Given the description of an element on the screen output the (x, y) to click on. 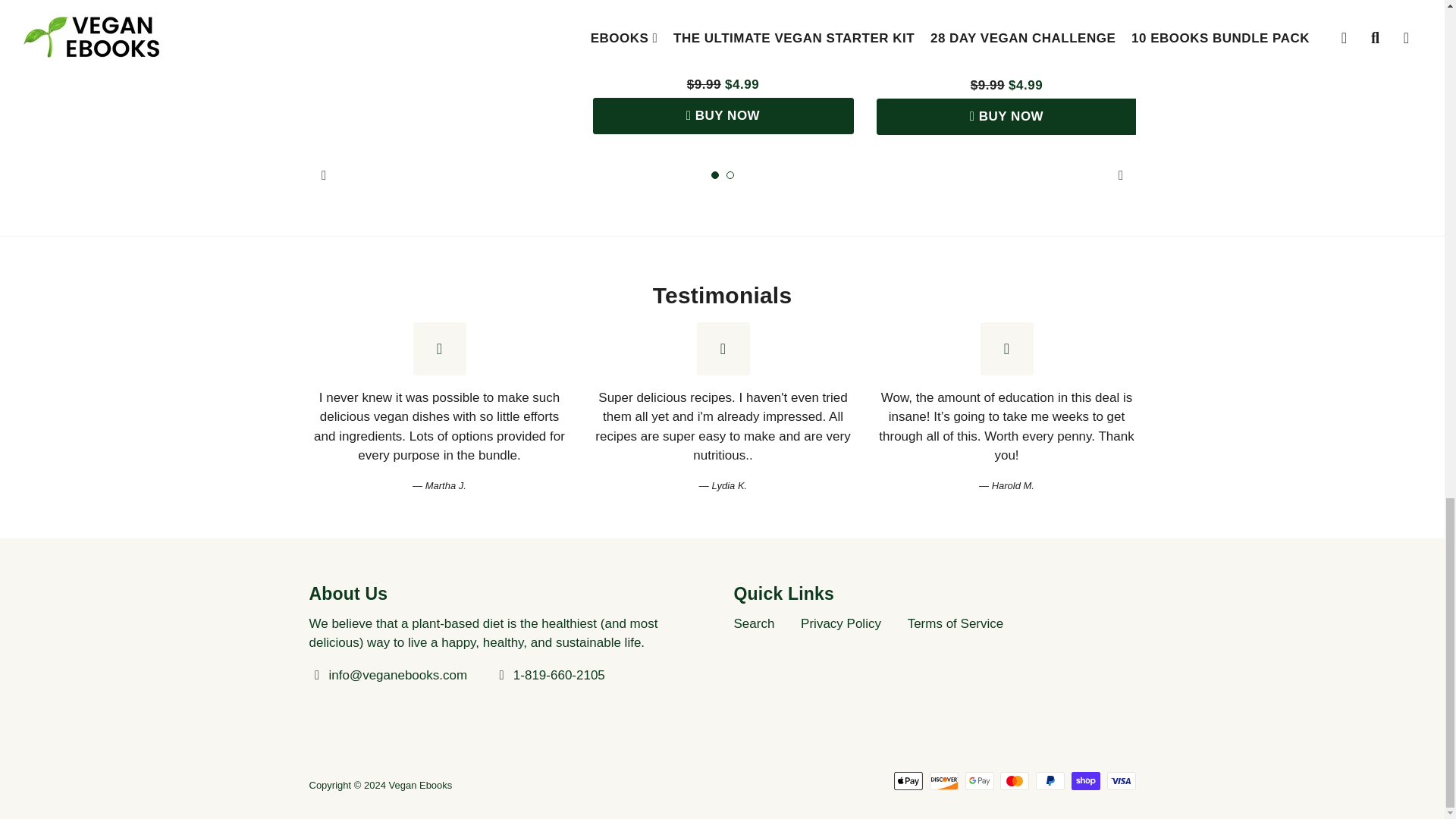
Visa (1120, 781)
Google Pay (979, 781)
Discover (944, 781)
Apple Pay (908, 781)
Shop Pay (1085, 781)
PayPal (1049, 781)
Mastercard (1014, 781)
